Given the description of an element on the screen output the (x, y) to click on. 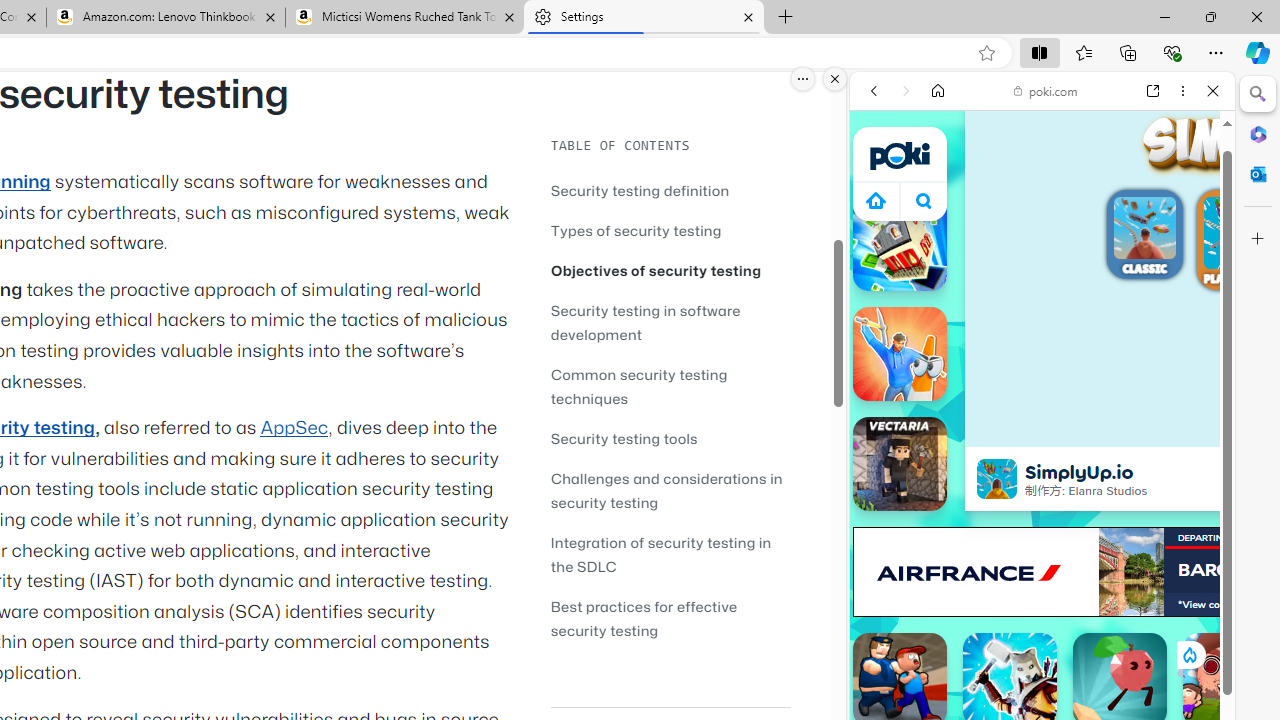
SEARCH TOOLS (1093, 228)
Forward (906, 91)
Search Filter, VIDEOS (1006, 228)
WEB   (882, 228)
Sports Games (1042, 666)
Two Player Games (1042, 567)
Security testing in software development (670, 322)
Security testing tools (670, 438)
Close split screen. (835, 79)
